Given the description of an element on the screen output the (x, y) to click on. 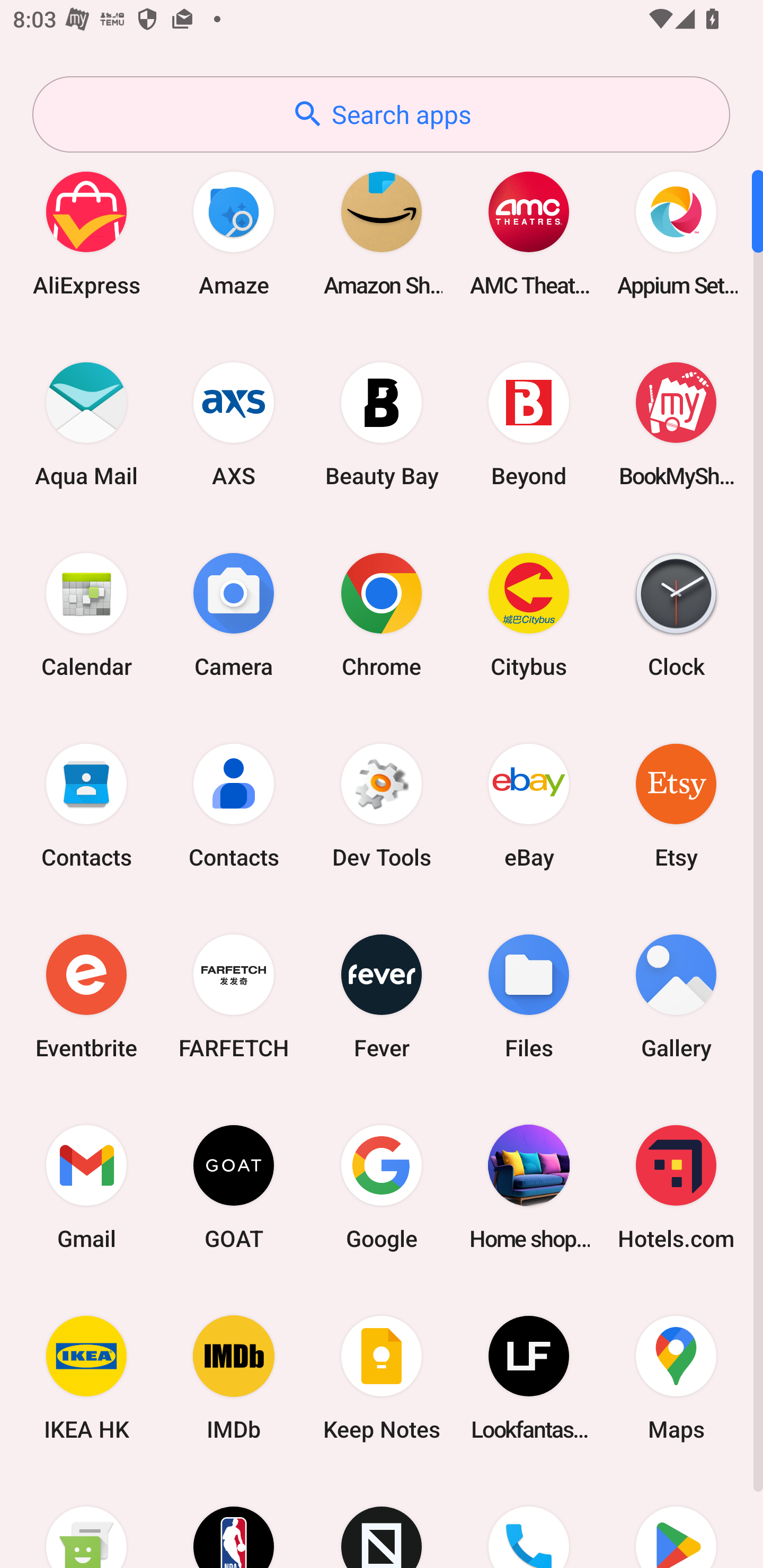
  Search apps (381, 114)
AliExpress (86, 233)
Amaze (233, 233)
Amazon Shopping (381, 233)
AMC Theatres (528, 233)
Appium Settings (676, 233)
Aqua Mail (86, 424)
AXS (233, 424)
Beauty Bay (381, 424)
Beyond (528, 424)
BookMyShow (676, 424)
Calendar (86, 614)
Camera (233, 614)
Chrome (381, 614)
Citybus (528, 614)
Clock (676, 614)
Contacts (86, 805)
Contacts (233, 805)
Dev Tools (381, 805)
eBay (528, 805)
Etsy (676, 805)
Eventbrite (86, 996)
FARFETCH (233, 996)
Fever (381, 996)
Files (528, 996)
Gallery (676, 996)
Gmail (86, 1186)
GOAT (233, 1186)
Google (381, 1186)
Home shopping (528, 1186)
Hotels.com (676, 1186)
IKEA HK (86, 1377)
IMDb (233, 1377)
Keep Notes (381, 1377)
Lookfantastic (528, 1377)
Maps (676, 1377)
Messaging (86, 1520)
NBA (233, 1520)
Novelship (381, 1520)
Phone (528, 1520)
Play Store (676, 1520)
